Given the description of an element on the screen output the (x, y) to click on. 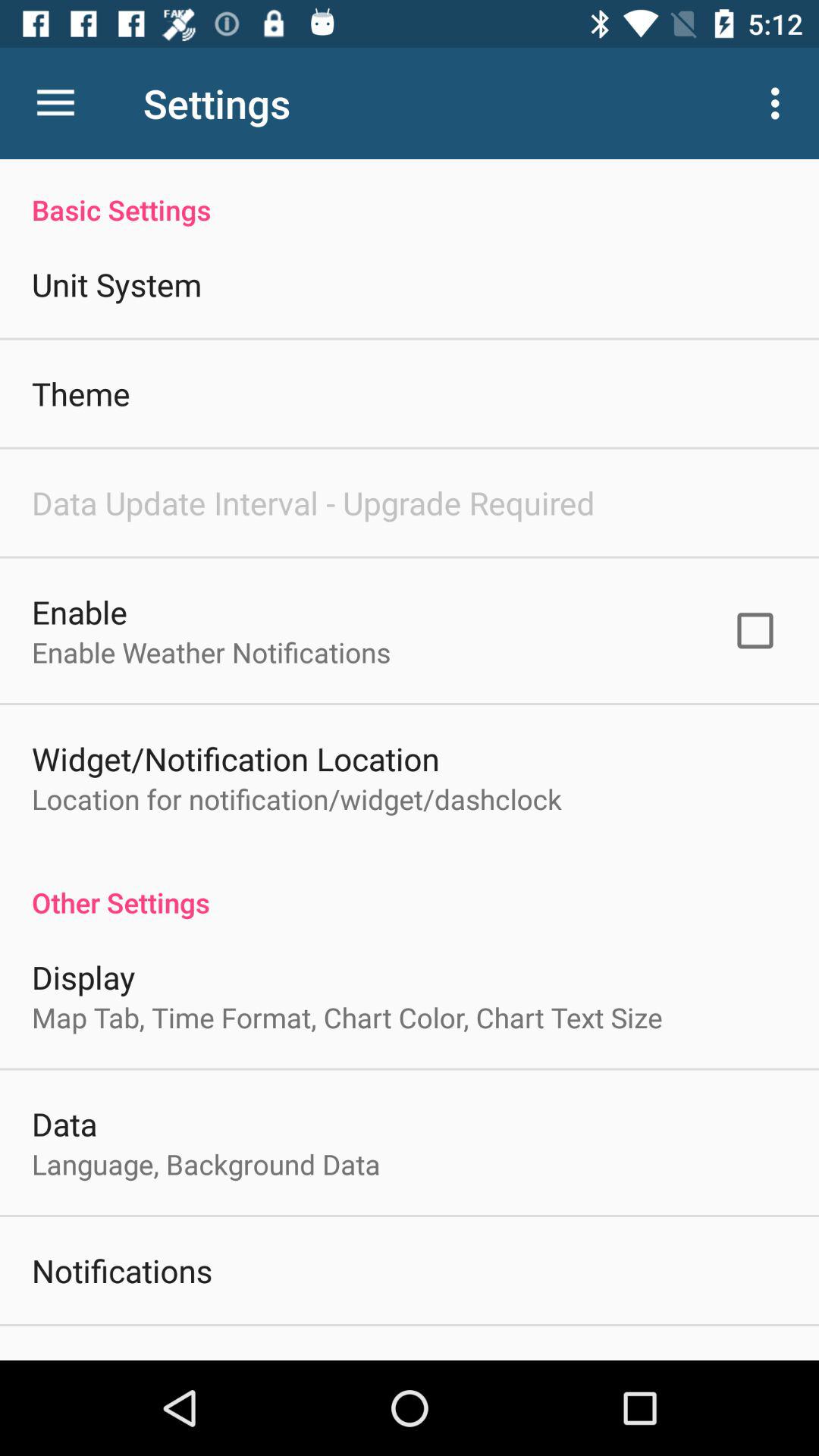
turn on display item (83, 976)
